Given the description of an element on the screen output the (x, y) to click on. 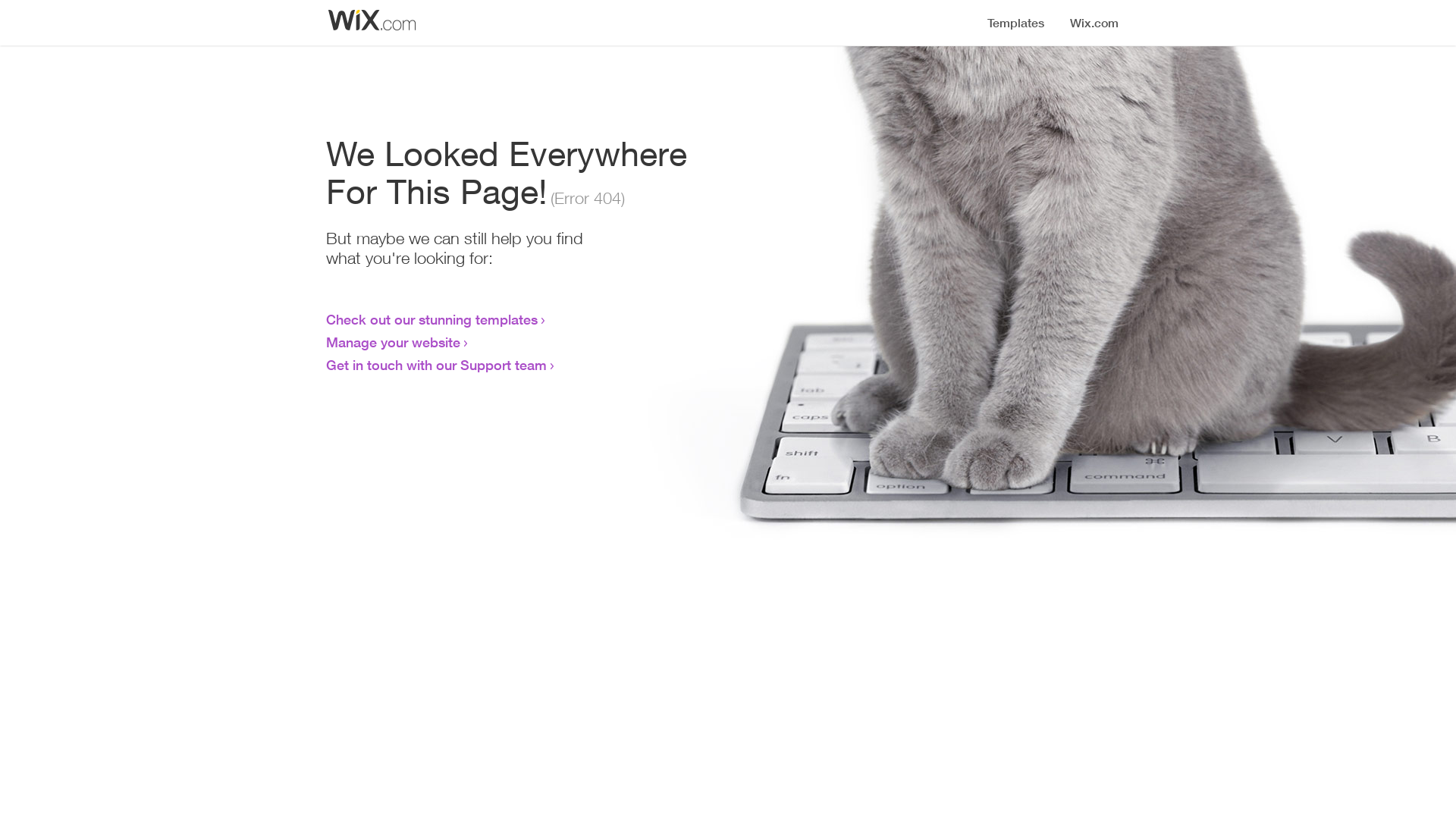
Get in touch with our Support team Element type: text (436, 364)
Manage your website Element type: text (393, 341)
Check out our stunning templates Element type: text (431, 318)
